Given the description of an element on the screen output the (x, y) to click on. 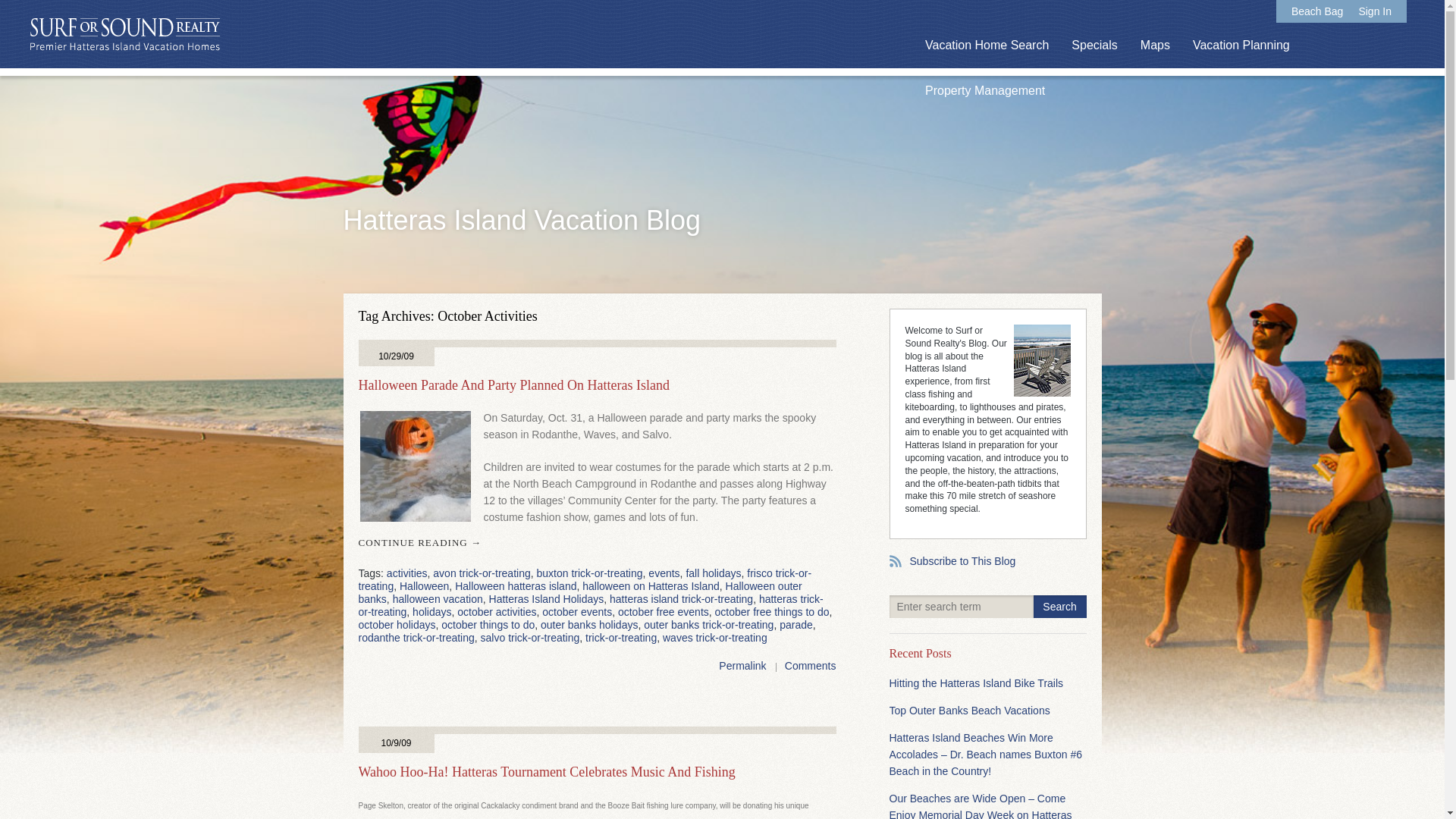
Vacation Home Search (986, 44)
Maps (1155, 44)
Surf or Sound Realty. Premier Hatteras Island Vacation Homes (124, 34)
Vacation Planning (1241, 44)
Beach Bag (1317, 10)
Sign In (1374, 10)
Specials (1093, 44)
